Given the description of an element on the screen output the (x, y) to click on. 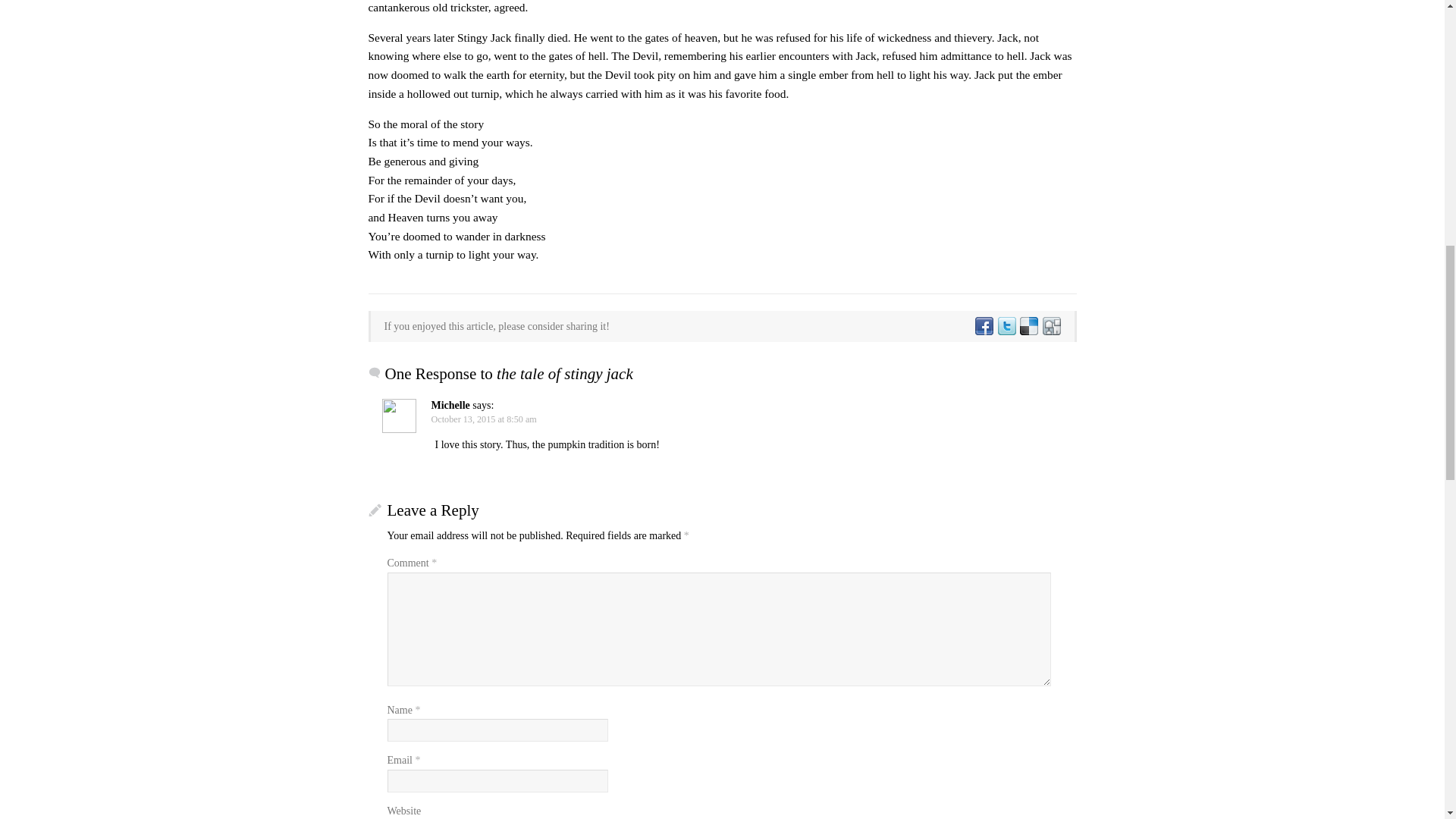
Share on Facebook (983, 326)
October 13, 2015 at 8:50 am (482, 419)
Share on Twitter (1005, 326)
Share on Delicious (1027, 326)
Share on Digg (1050, 326)
